Given the description of an element on the screen output the (x, y) to click on. 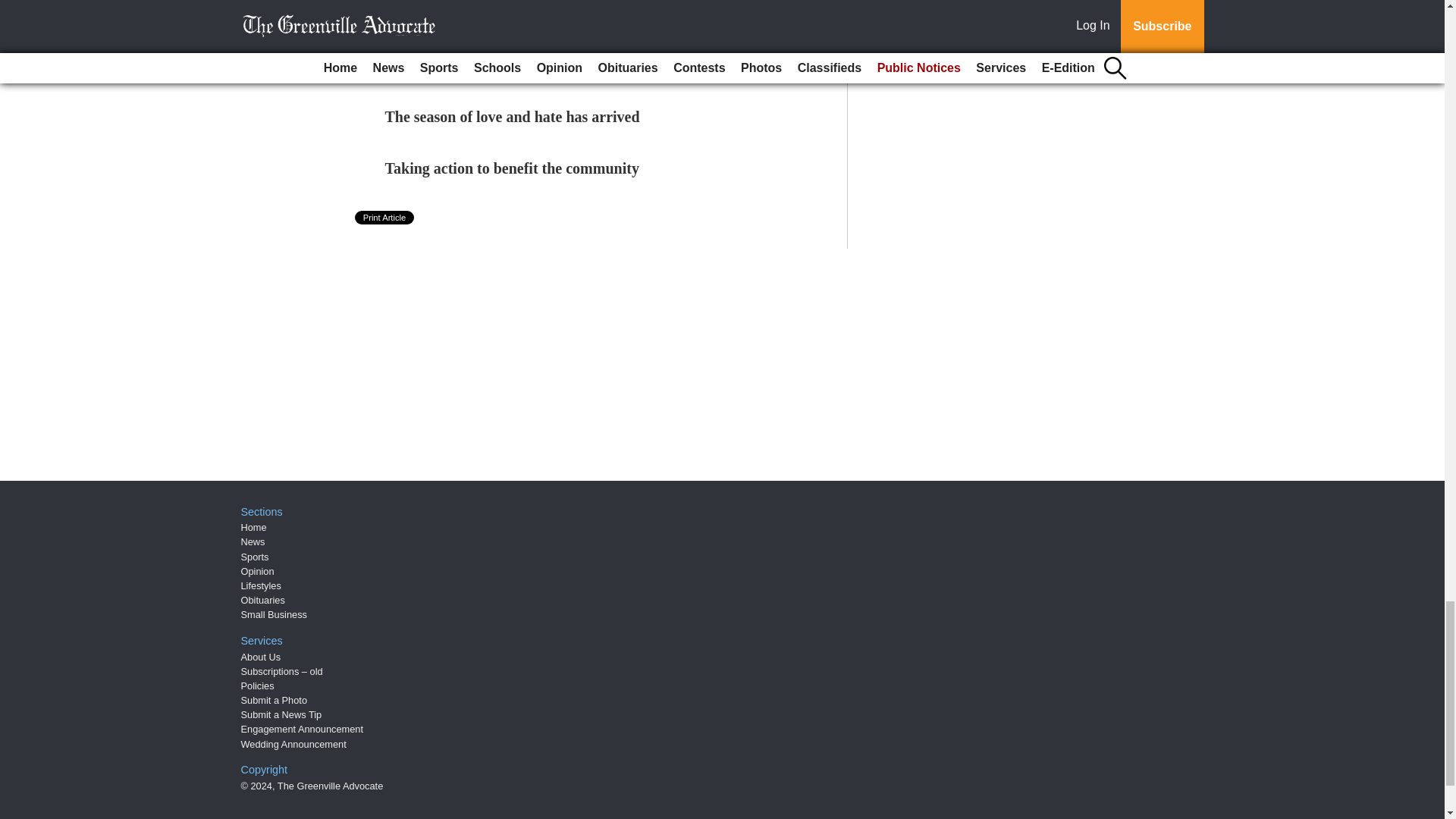
Tigers, Tide Hornets will win, Troy lose (512, 64)
Tigers, Tide Hornets will win, Troy lose (512, 64)
Print Article (384, 217)
Taking action to benefit the community (512, 167)
The season of love and hate has arrived (512, 116)
The season of love and hate has arrived (512, 116)
Taking action to benefit the community (512, 167)
